Given the description of an element on the screen output the (x, y) to click on. 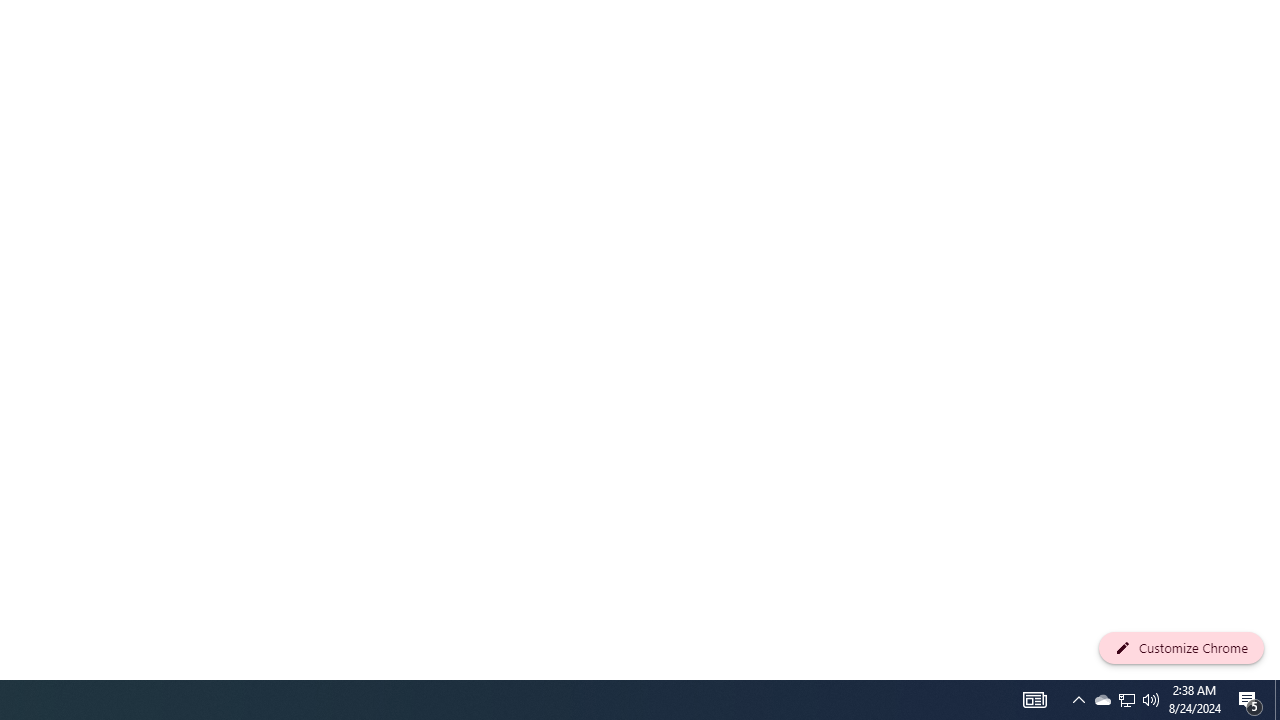
Customize Chrome (1181, 647)
